Given the description of an element on the screen output the (x, y) to click on. 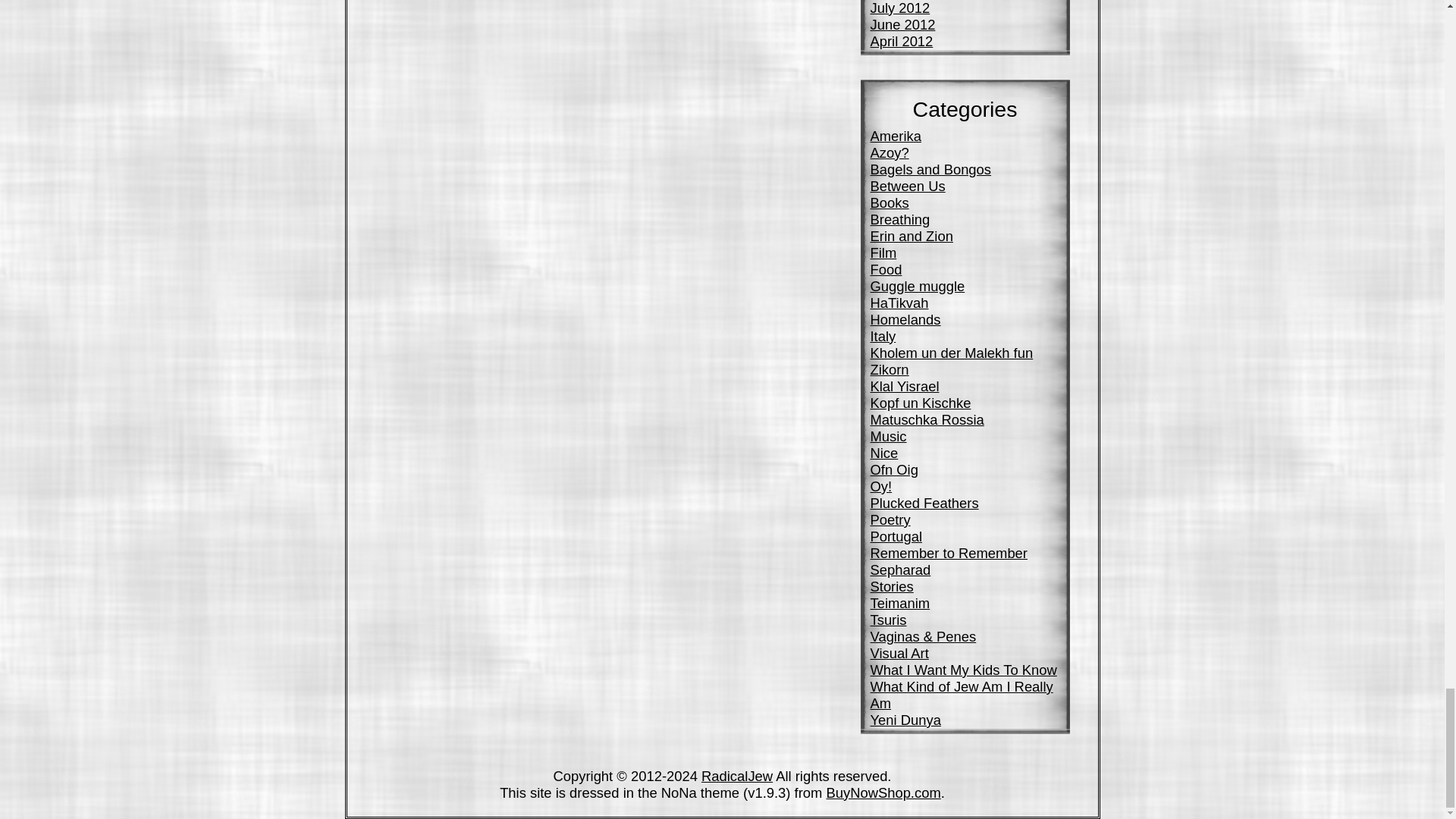
RadicalJew (737, 775)
BuyNowShop.com (882, 792)
